Given the description of an element on the screen output the (x, y) to click on. 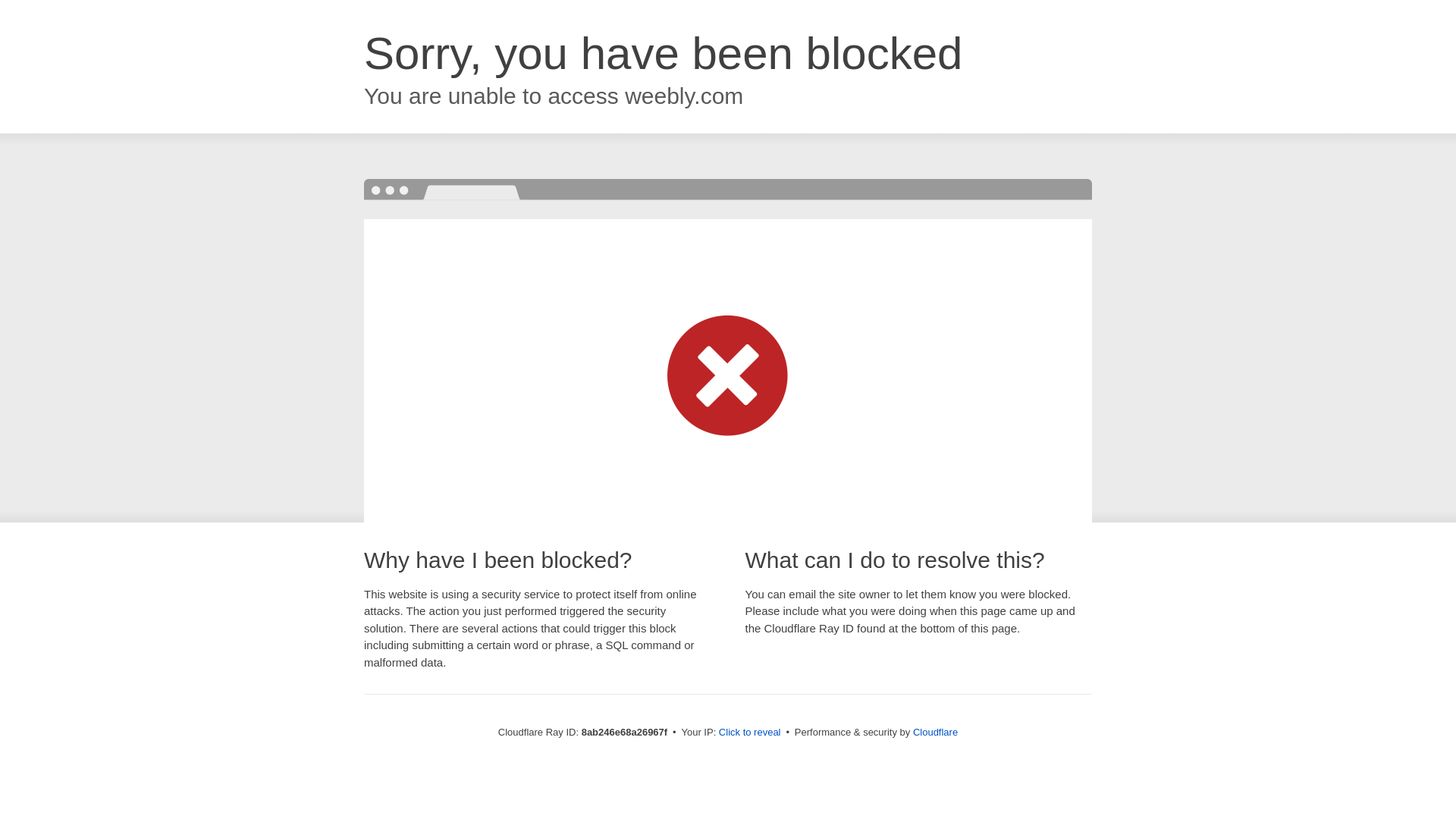
Cloudflare (935, 731)
Click to reveal (749, 732)
